Given the description of an element on the screen output the (x, y) to click on. 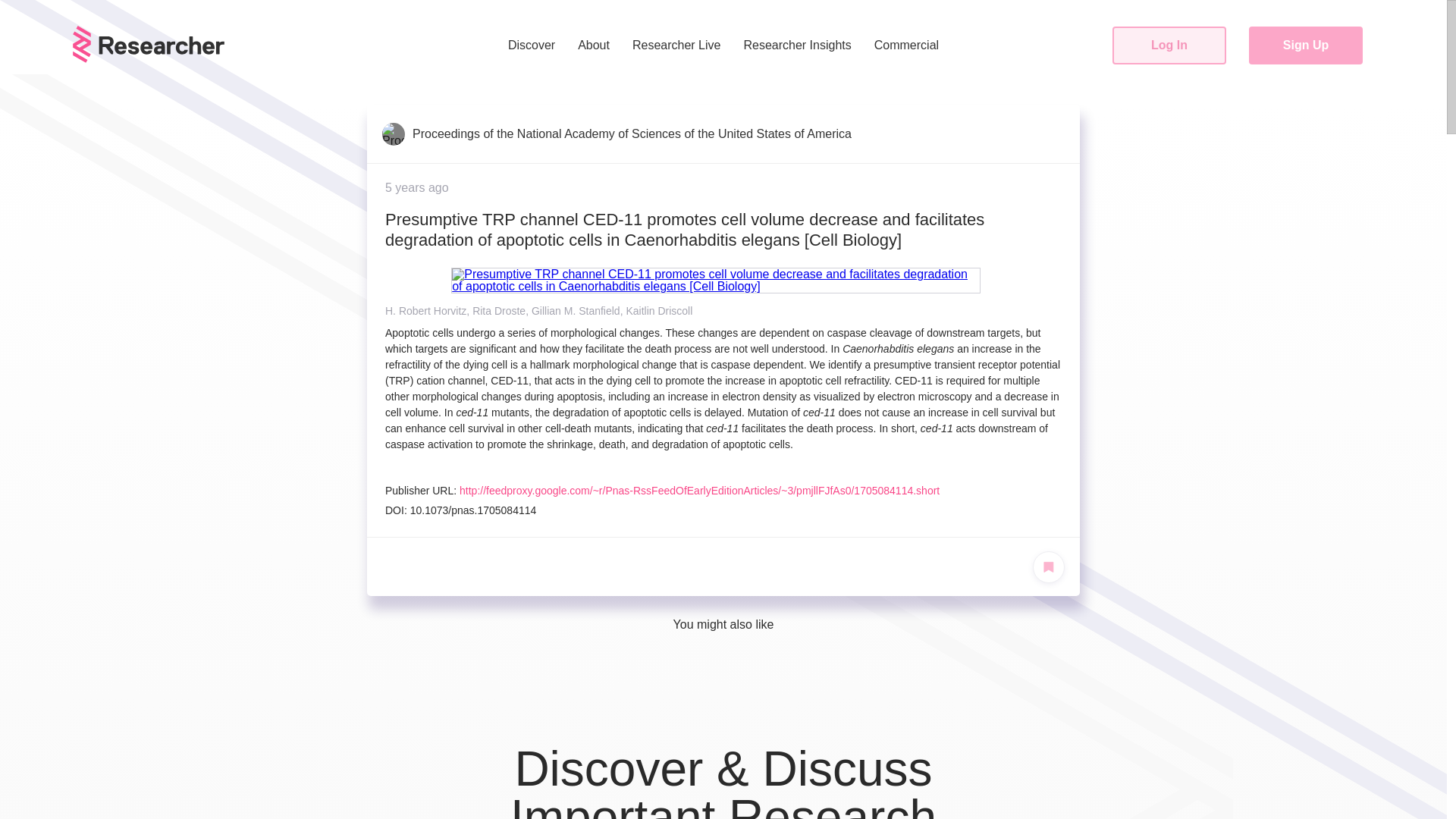
Researcher Live (676, 44)
Sign Up (1305, 45)
Researcher Insights (797, 44)
Researcher: Home (148, 58)
Log In (1168, 45)
Discover (531, 44)
Log In (1168, 45)
About (593, 44)
Commercial (906, 44)
